Given the description of an element on the screen output the (x, y) to click on. 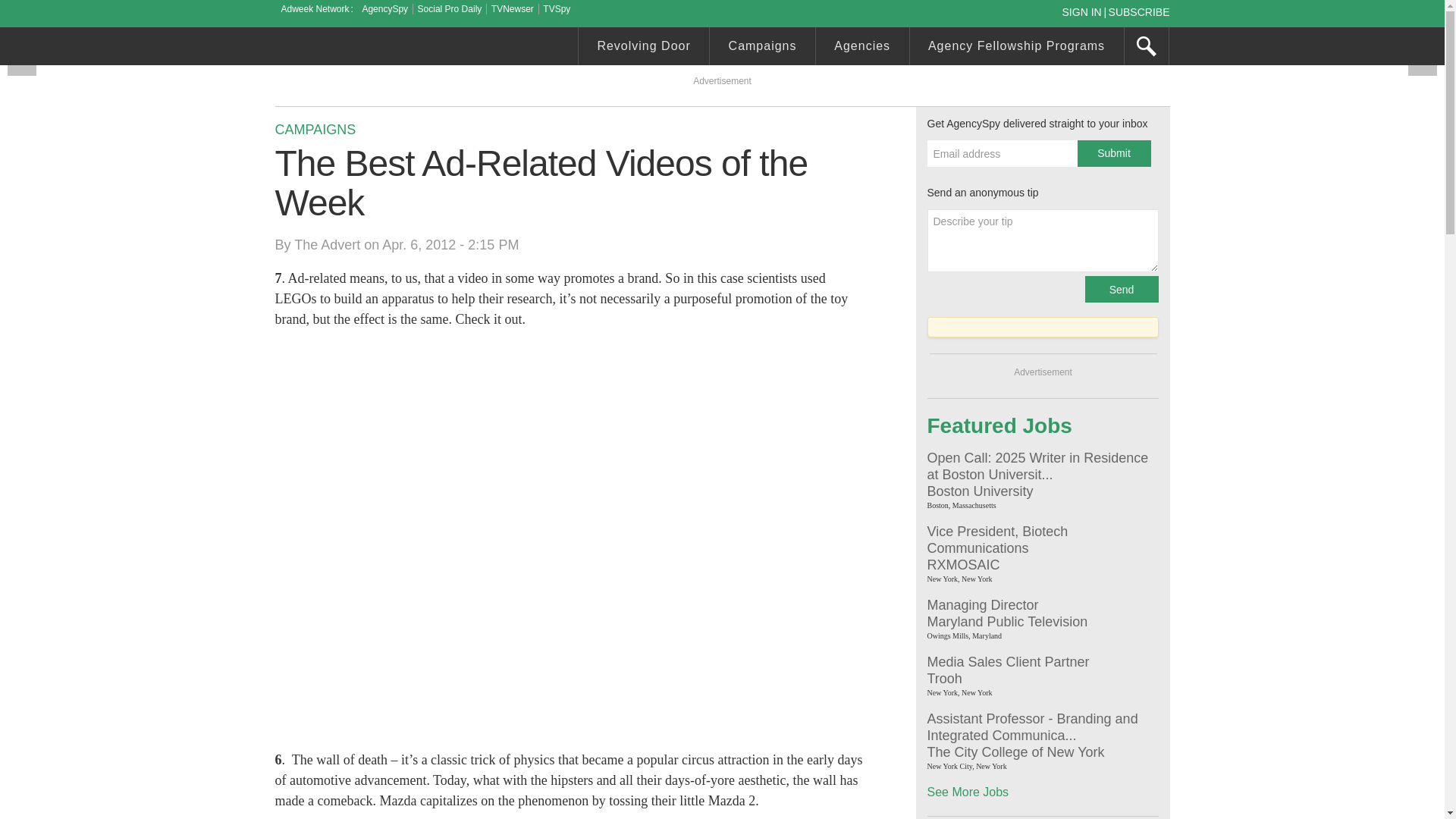
SIGN IN (1084, 11)
TVNewser (513, 9)
Adweek Network (316, 9)
AgencySpy (384, 9)
Send (1120, 289)
Revolving Door (643, 48)
SUBSCRIBE (1139, 11)
Agency Fellowship Programs (1017, 48)
Covering the ad agency world (388, 47)
Agencies (861, 48)
Campaigns (762, 48)
TVSpy (556, 9)
Social Pro Daily (449, 9)
Submit (1113, 153)
